Given the description of an element on the screen output the (x, y) to click on. 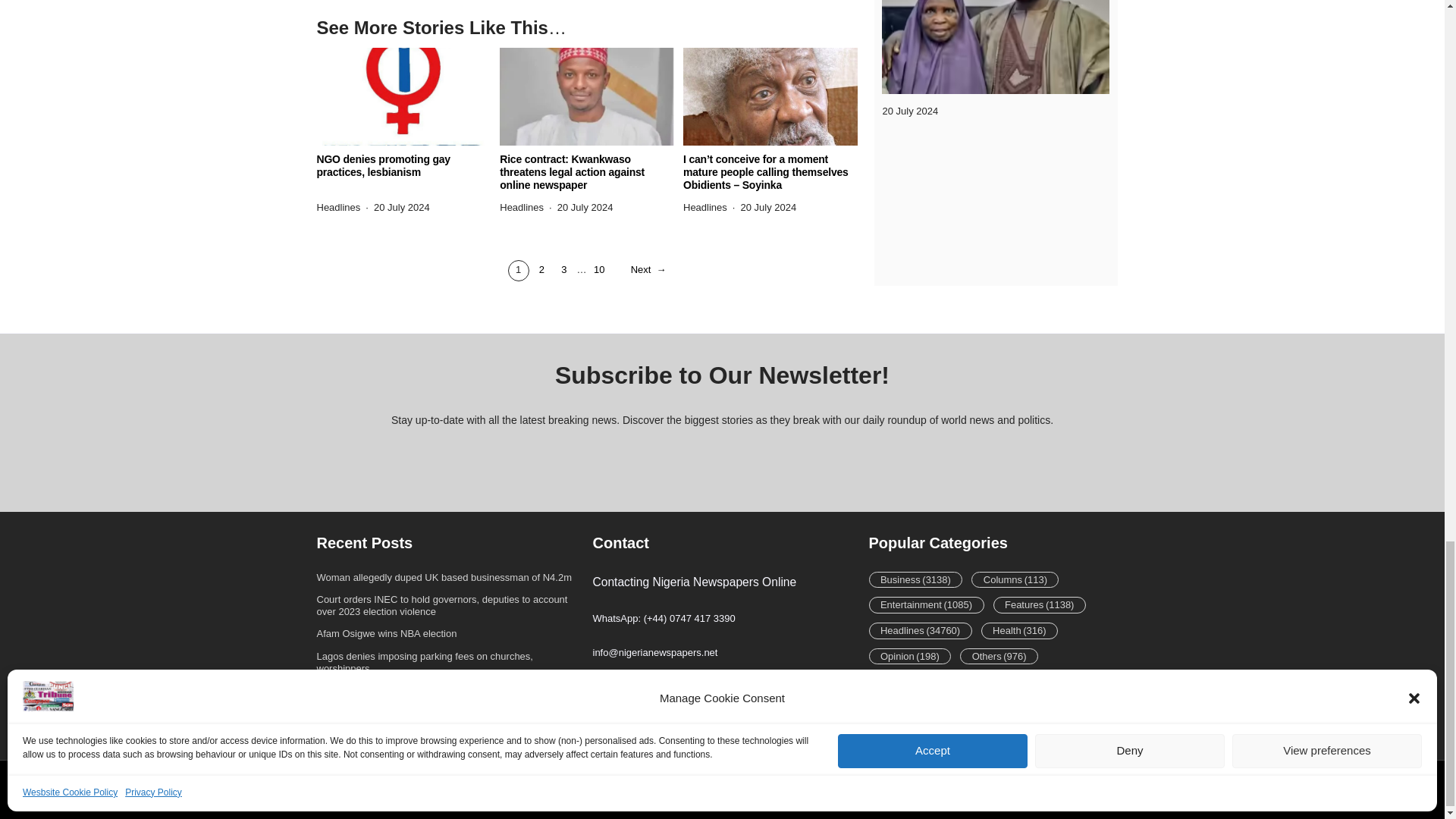
NGO denies promoting gay practices, lesbianism (404, 166)
Headlines (339, 206)
Headlines (521, 206)
